Given the description of an element on the screen output the (x, y) to click on. 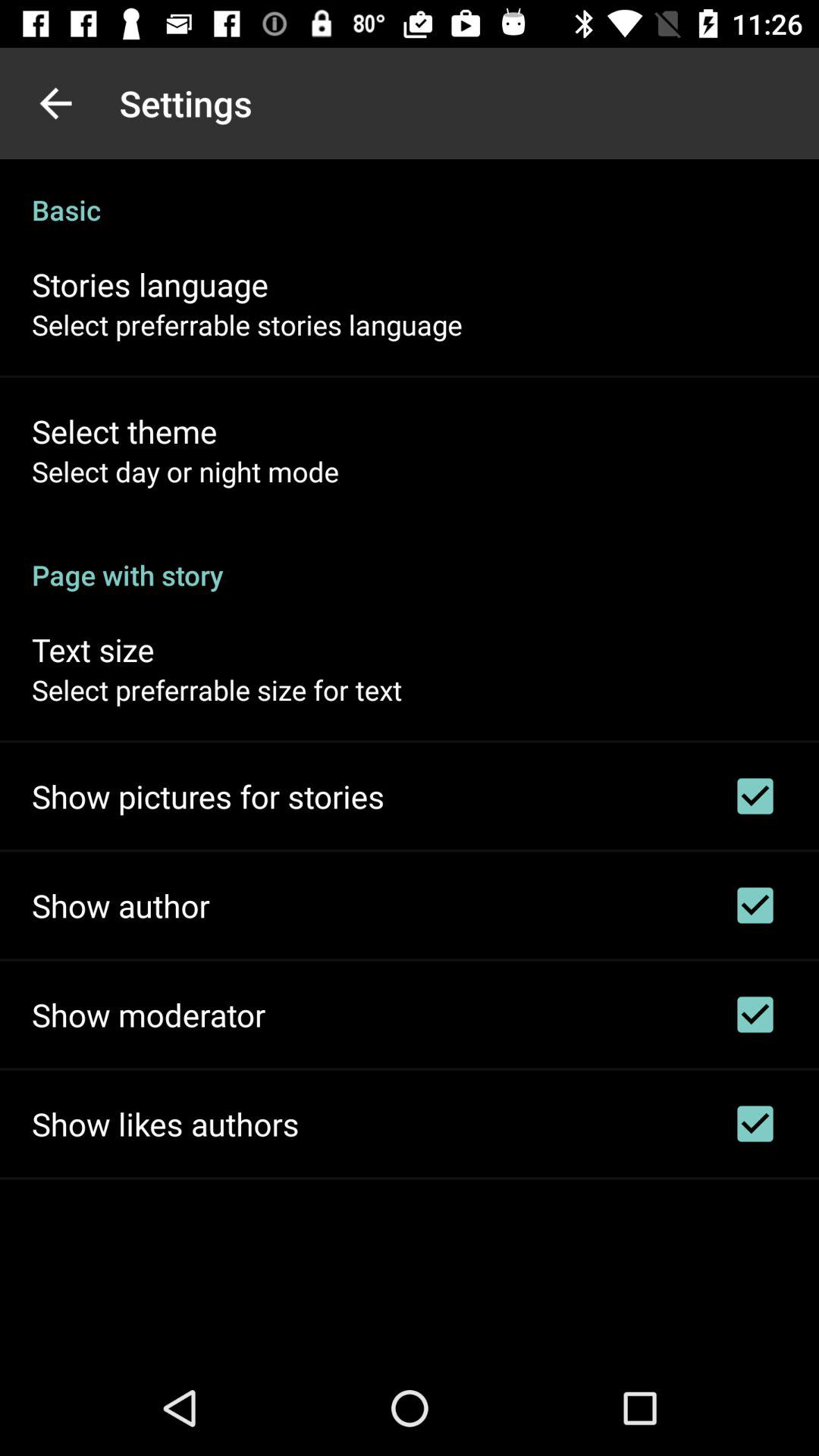
launch icon above select day or item (124, 430)
